Given the description of an element on the screen output the (x, y) to click on. 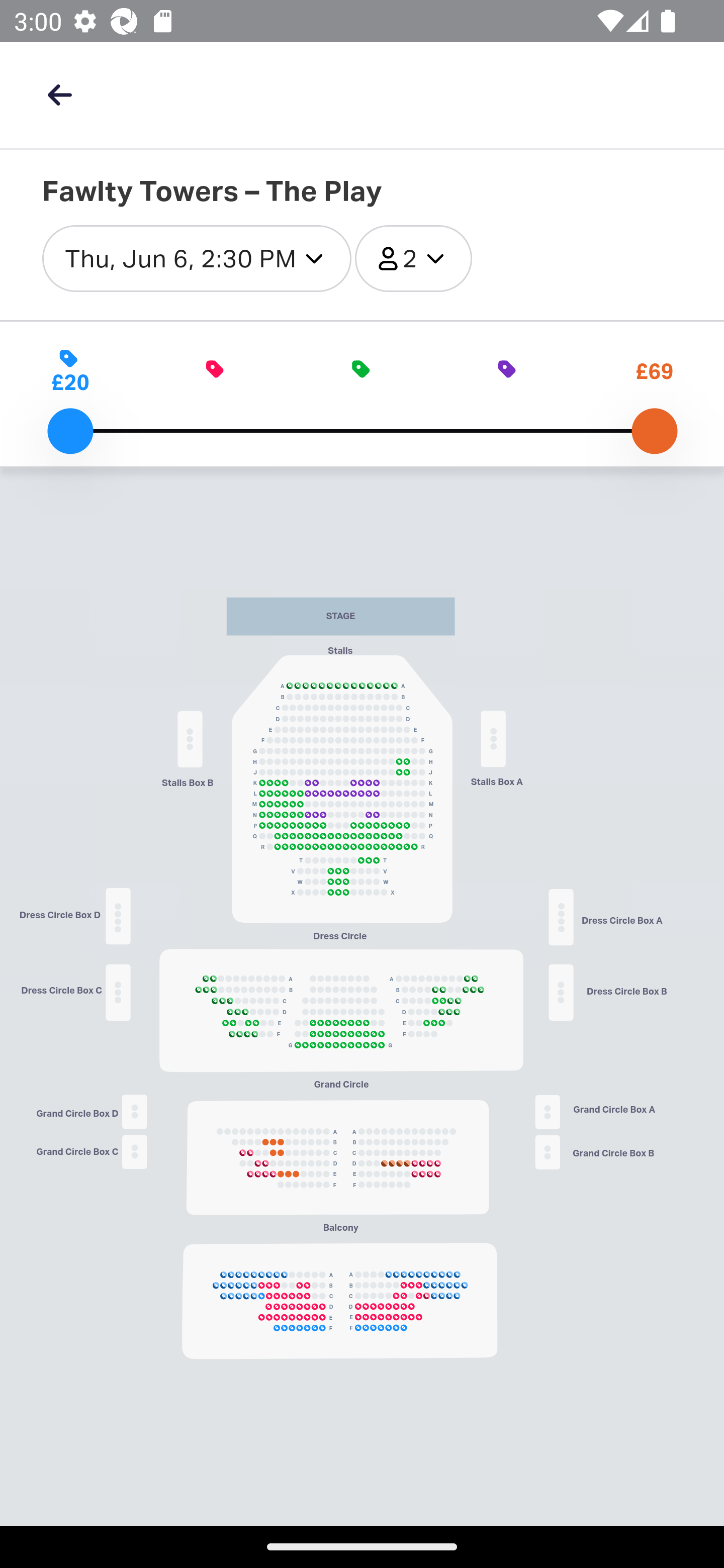
back button (59, 94)
Thu, Jun 6, 2:30 PM (196, 259)
2 (412, 259)
£20 (70, 370)
£69 (654, 370)
0.0 (69, 431)
100.0 (654, 431)
A B C D E F G G A B C D E F (341, 1010)
B C D E F A B C D E F A (336, 1157)
A B C D E F A B C D E F (339, 1300)
